Given the description of an element on the screen output the (x, y) to click on. 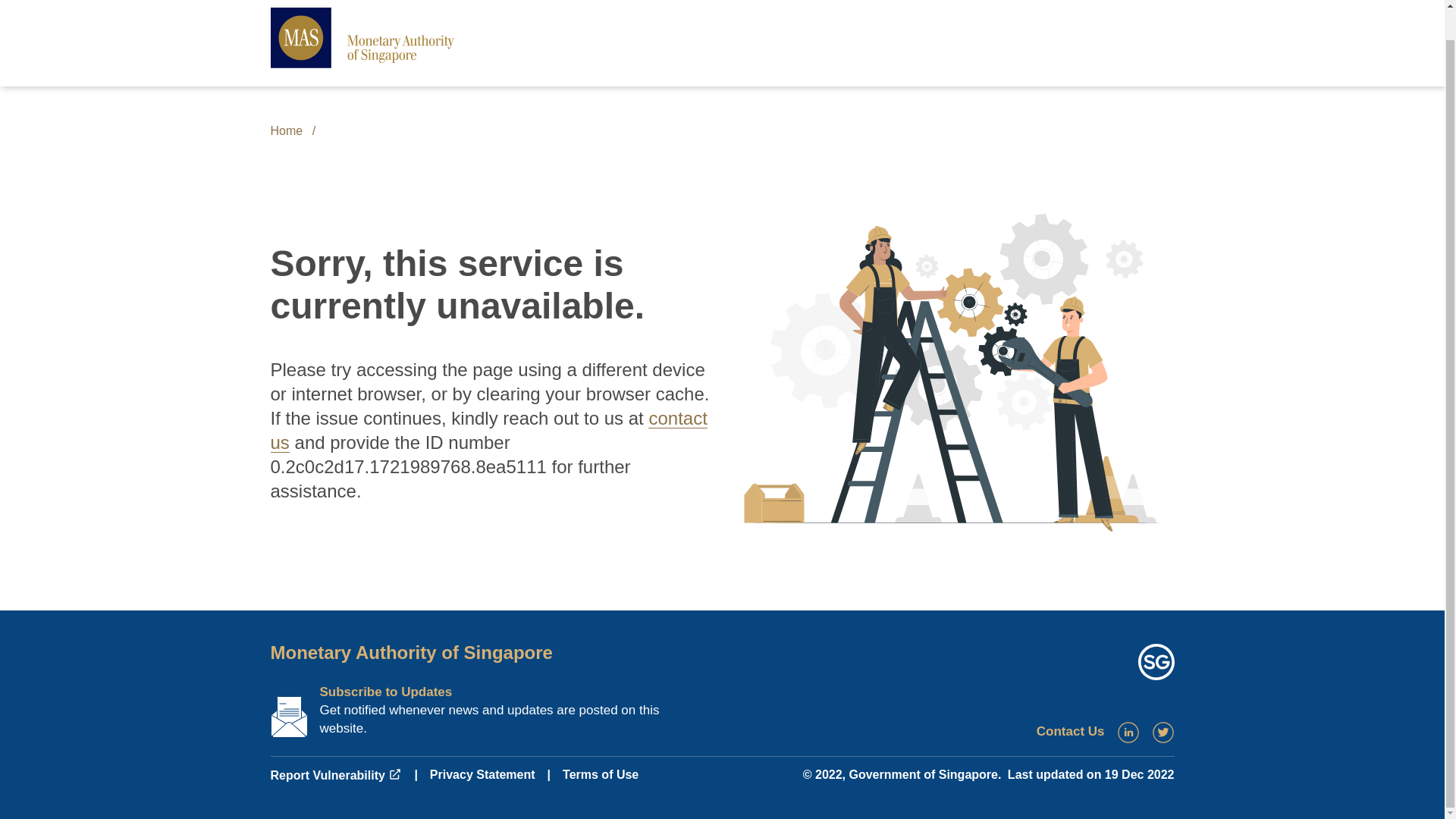
Contact Us (1070, 730)
Privacy Statement (482, 774)
Monetary Authority of Singapore (410, 652)
Home (285, 130)
Terms of Use (600, 774)
contact us (487, 429)
Report Vulnerability (335, 775)
